Given the description of an element on the screen output the (x, y) to click on. 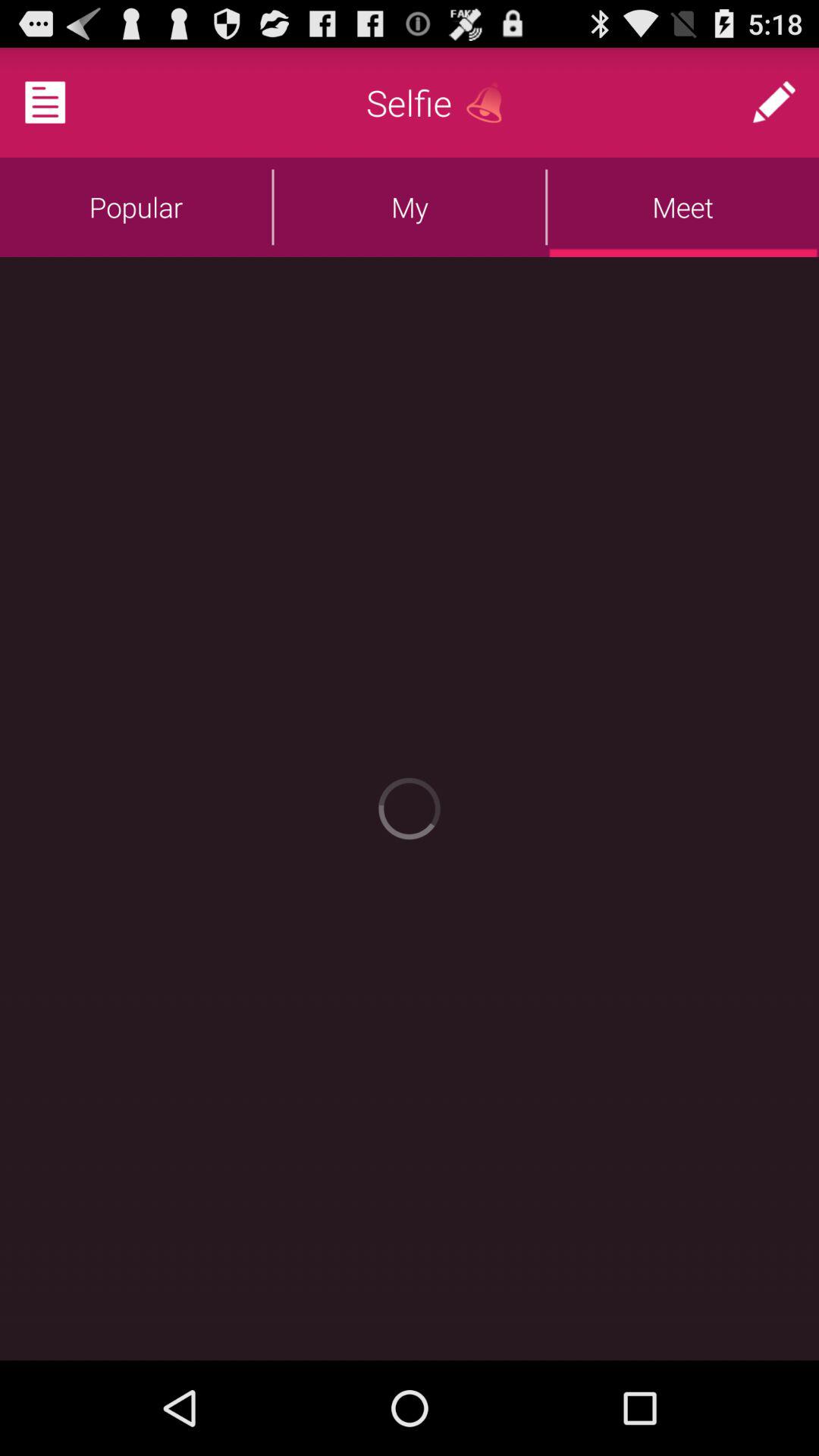
scroll to selfie (409, 102)
